Given the description of an element on the screen output the (x, y) to click on. 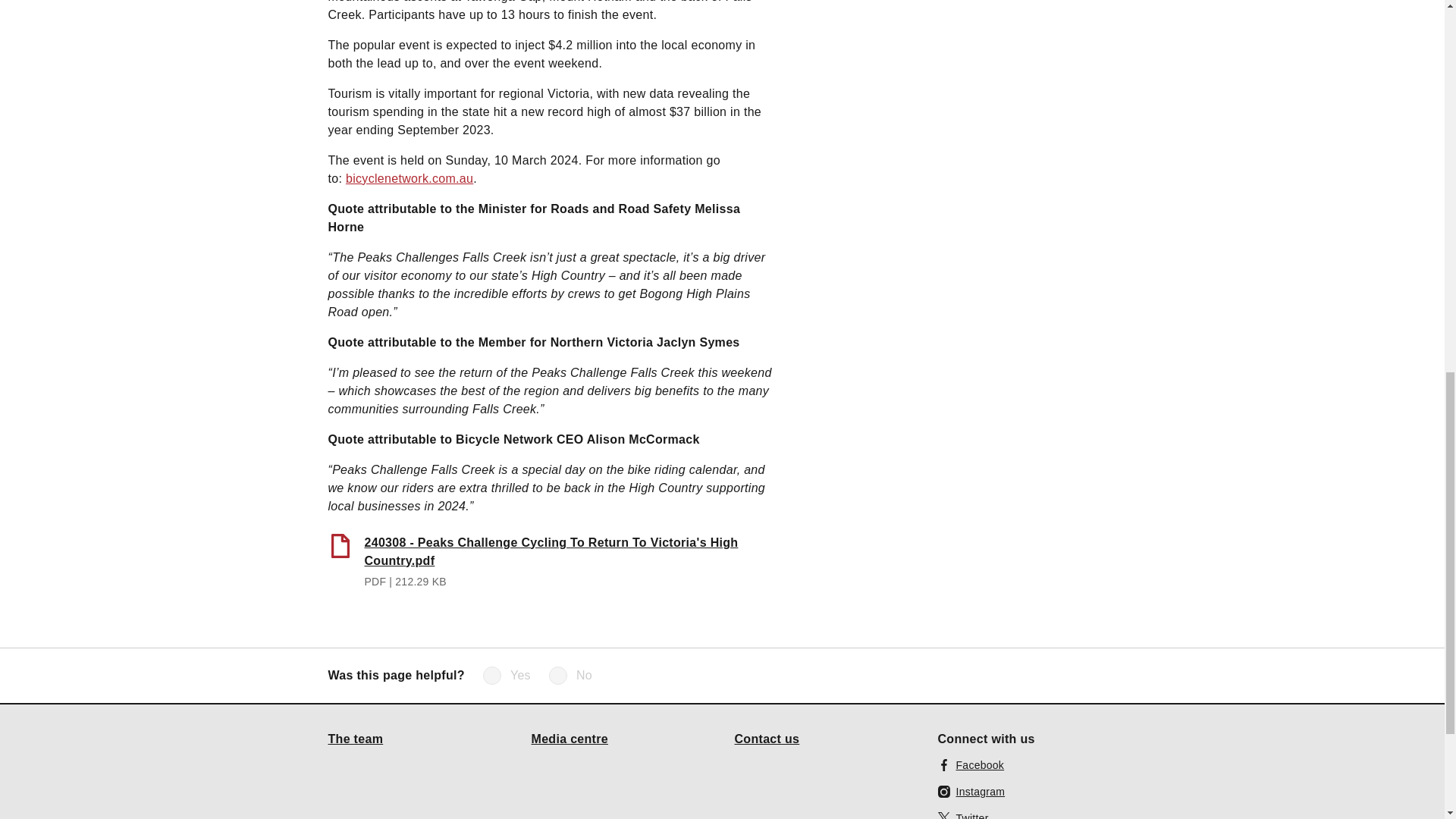
Media centre (569, 738)
Contact us (766, 738)
bicyclenetwork.com.au (409, 177)
Facebook (970, 764)
The team (354, 738)
Instagram (970, 791)
Twitter (962, 814)
